Given the description of an element on the screen output the (x, y) to click on. 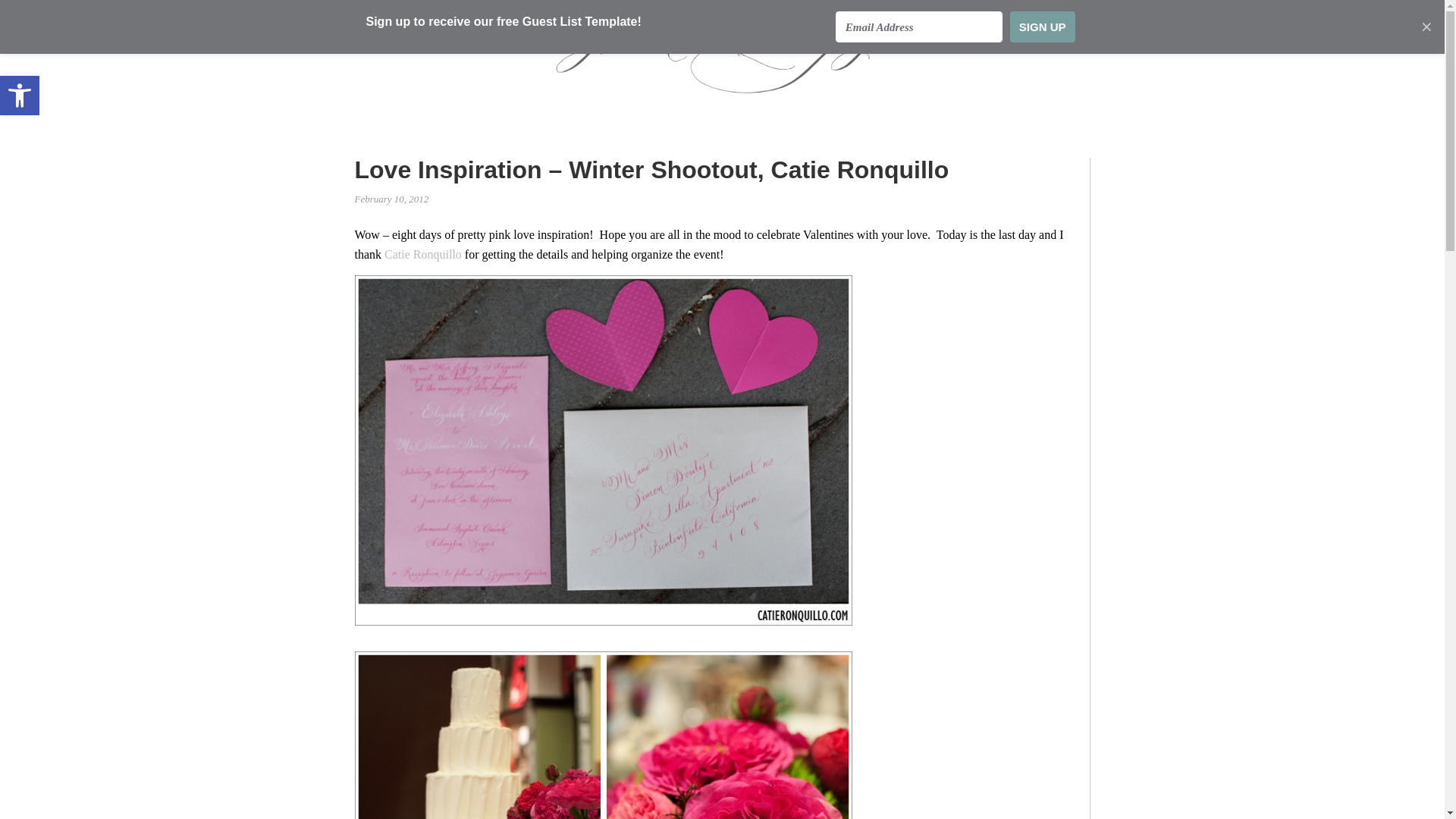
LIVE EVENTS (612, 136)
HOME (392, 149)
SERVICES (502, 149)
Accessibility Tools (19, 95)
Accessibility Tools (19, 95)
LEFT HANDED CALLIGRAPHER (722, 51)
catie ronquillo (603, 735)
catie ronquillo (422, 254)
dallas calligrapher (19, 95)
